Given the description of an element on the screen output the (x, y) to click on. 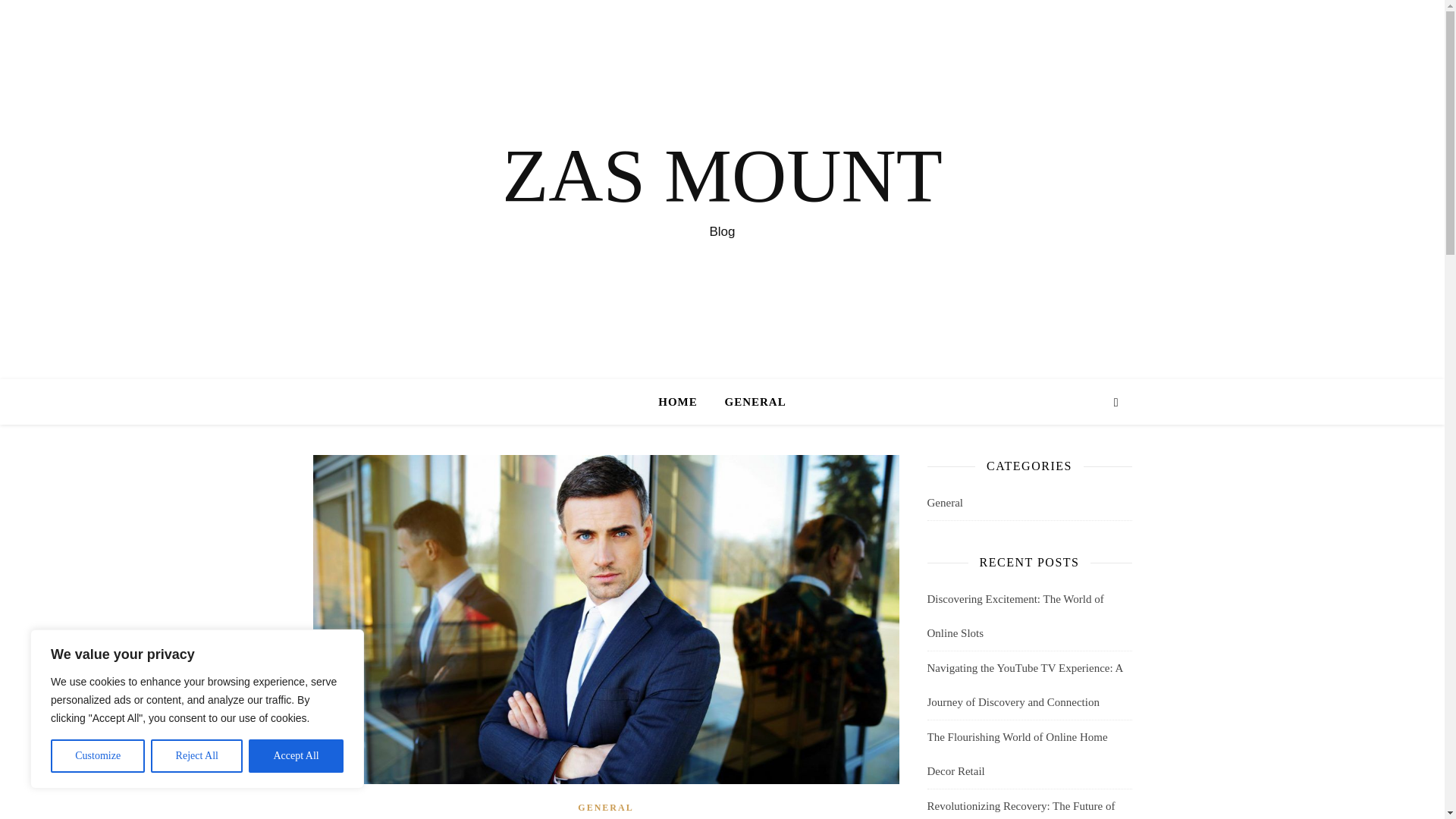
GENERAL (605, 807)
Customize (97, 756)
Reject All (197, 756)
The Flourishing World of Online Home Decor Retail (1016, 754)
HOME (684, 402)
Discovering Excitement: The World of Online Slots (1014, 615)
General (944, 503)
Accept All (295, 756)
GENERAL (749, 402)
